Given the description of an element on the screen output the (x, y) to click on. 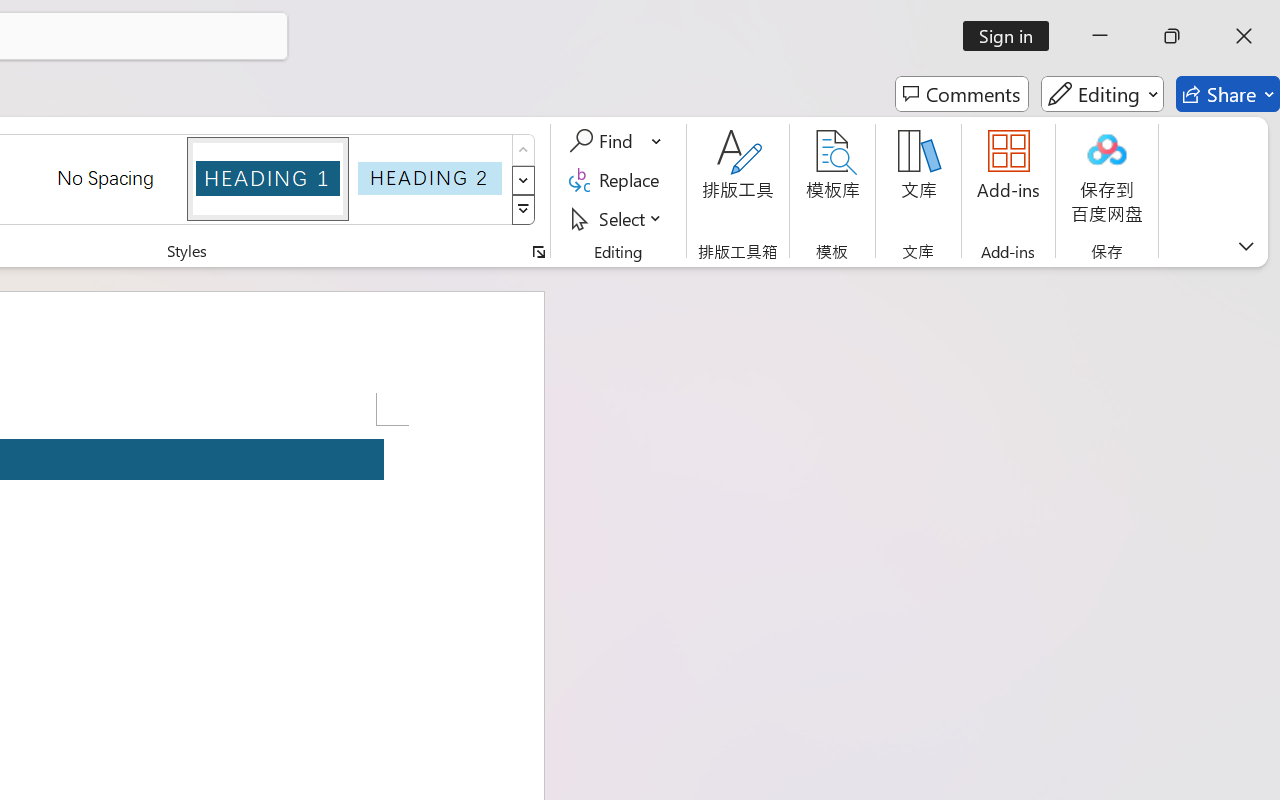
Close help bubble (1247, 137)
Subscriptions - YouTube (744, 22)
